Given the description of an element on the screen output the (x, y) to click on. 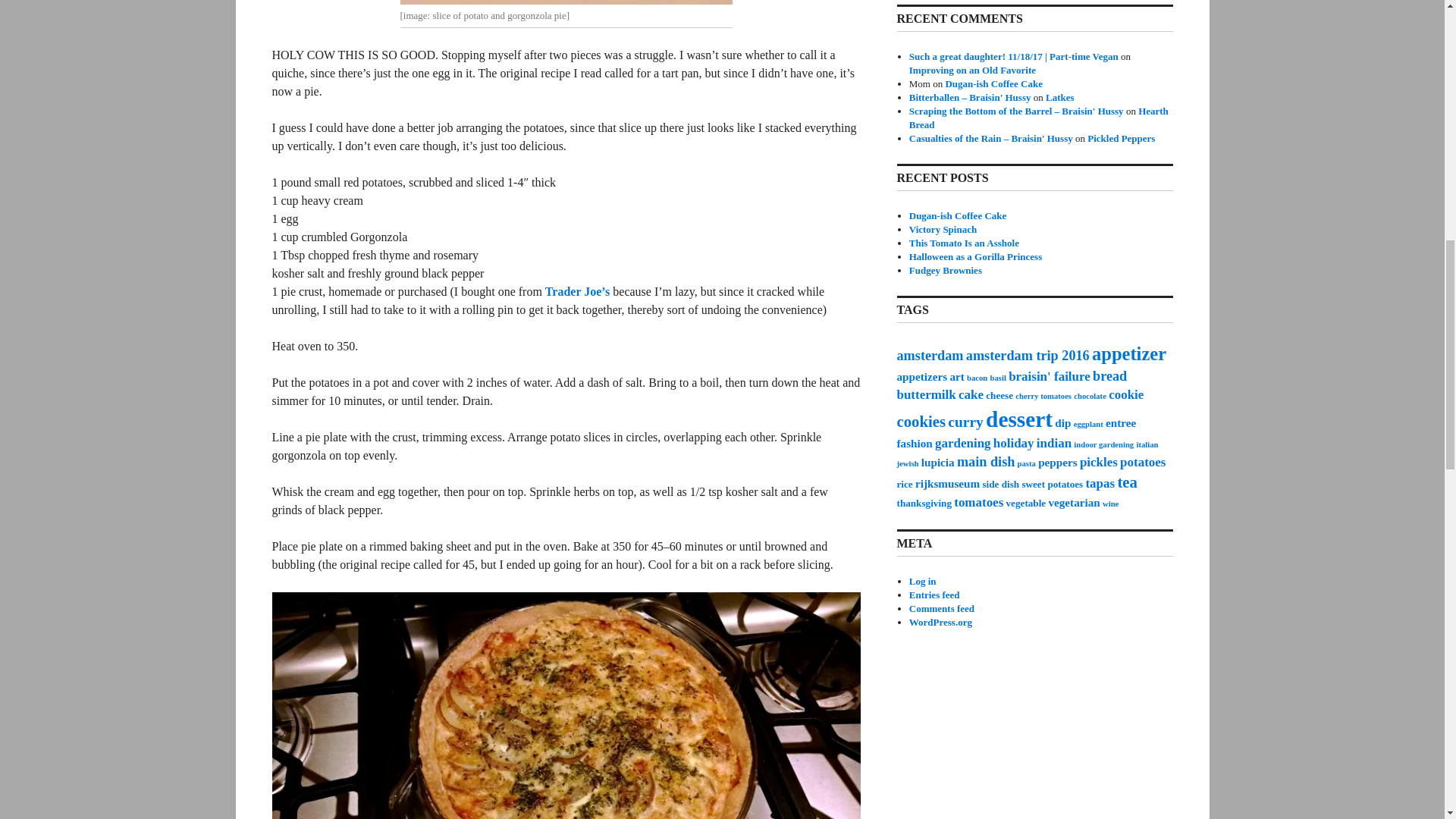
Improving on an Old Favorite (971, 70)
